Given the description of an element on the screen output the (x, y) to click on. 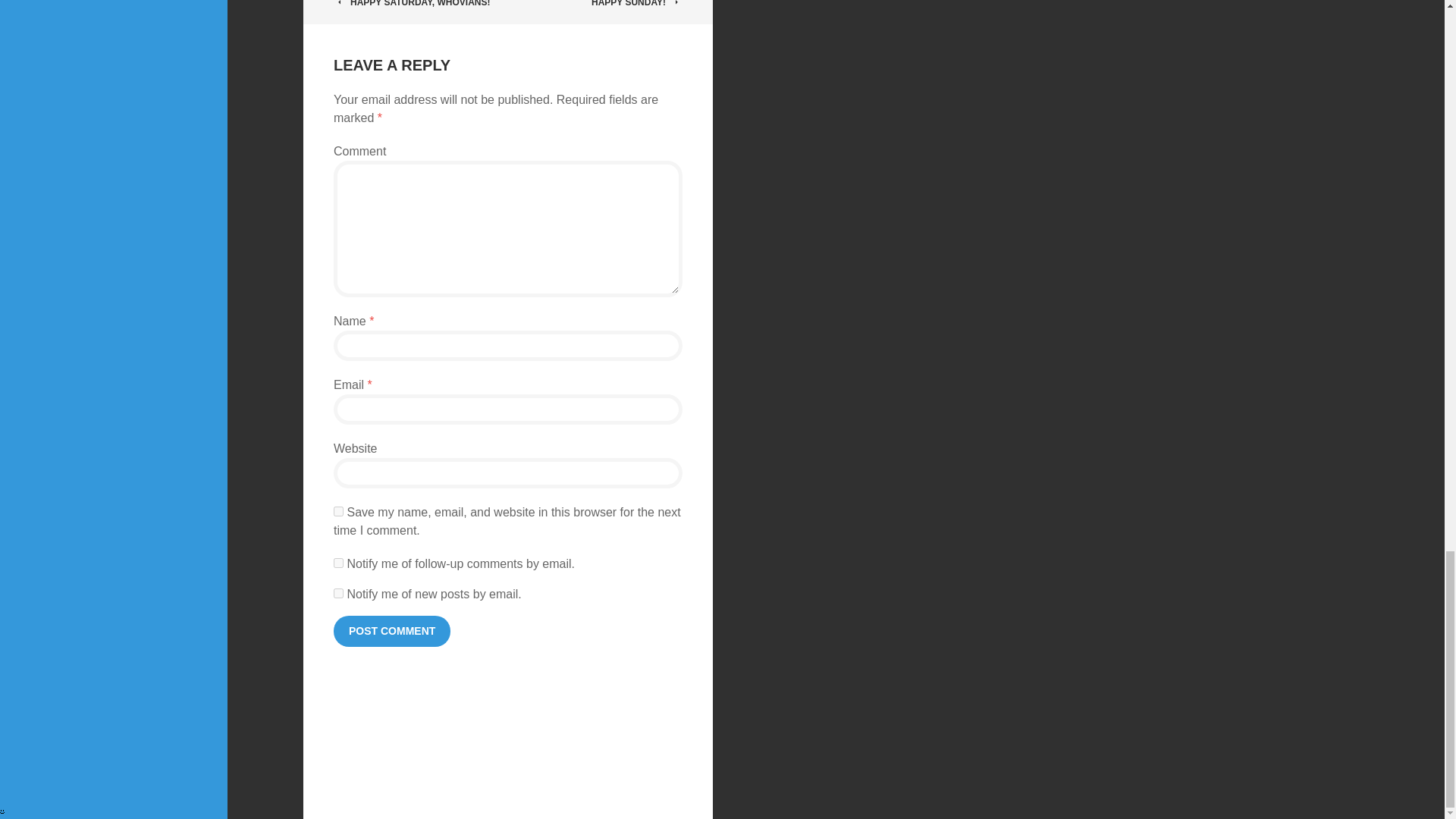
subscribe (338, 593)
subscribe (338, 562)
Post Comment (391, 631)
yes (338, 511)
